Given the description of an element on the screen output the (x, y) to click on. 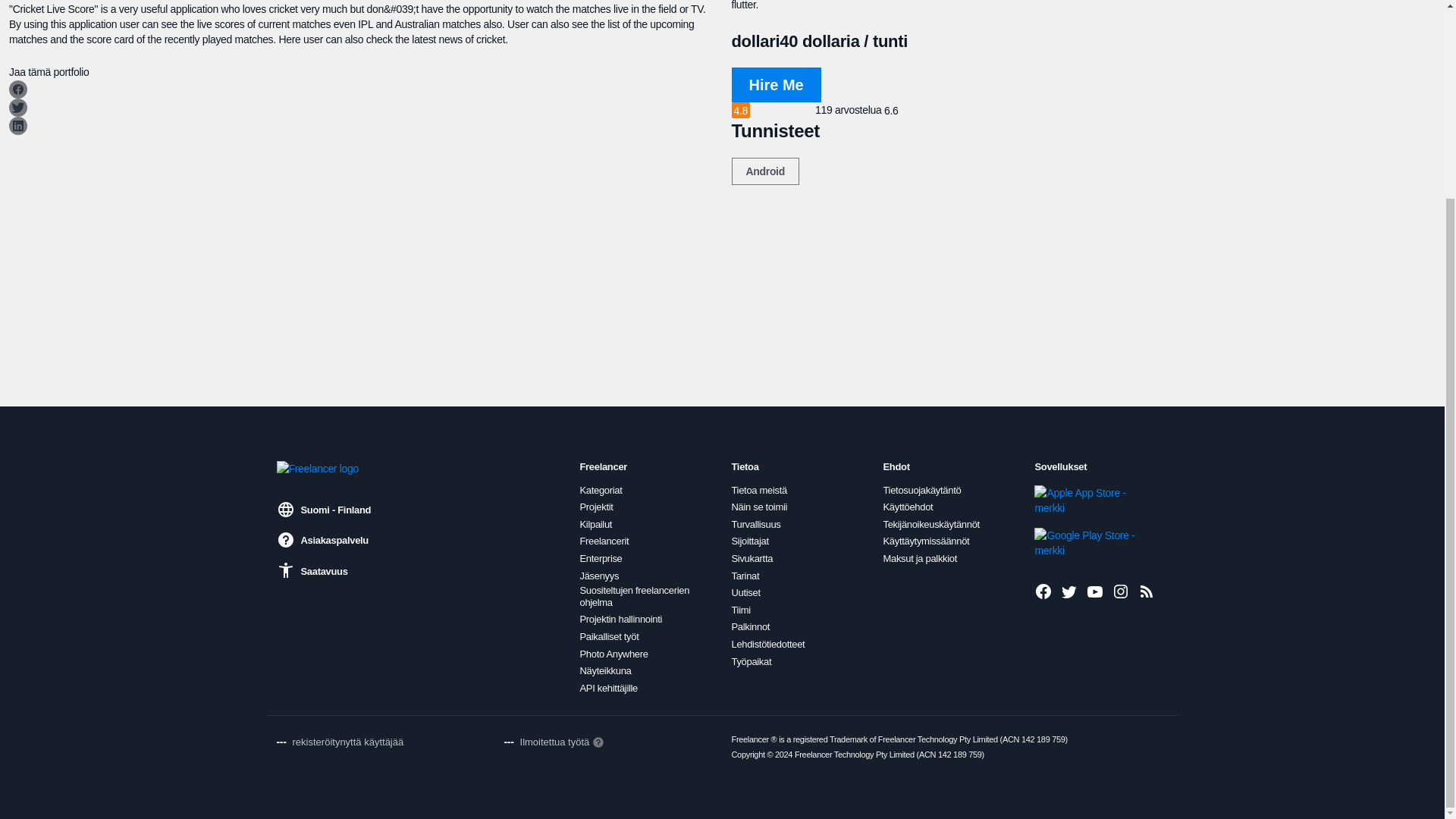
Tarinat (744, 576)
Enterprise (600, 558)
Lataa App Storesta (1085, 500)
Android (763, 171)
Uusimmat projektit (1146, 591)
Freelancer Youtubessa (1094, 591)
Tiimi (739, 610)
Suositeltujen freelancerien ohjelma (646, 596)
Turvallisuus (755, 524)
Uutiset (745, 592)
Sijoittajat (749, 541)
Photo Anywhere (613, 654)
Freelancer Instagramissa (1120, 591)
Projektin hallinnointi (620, 619)
Hanki Google Playsta (1085, 542)
